Given the description of an element on the screen output the (x, y) to click on. 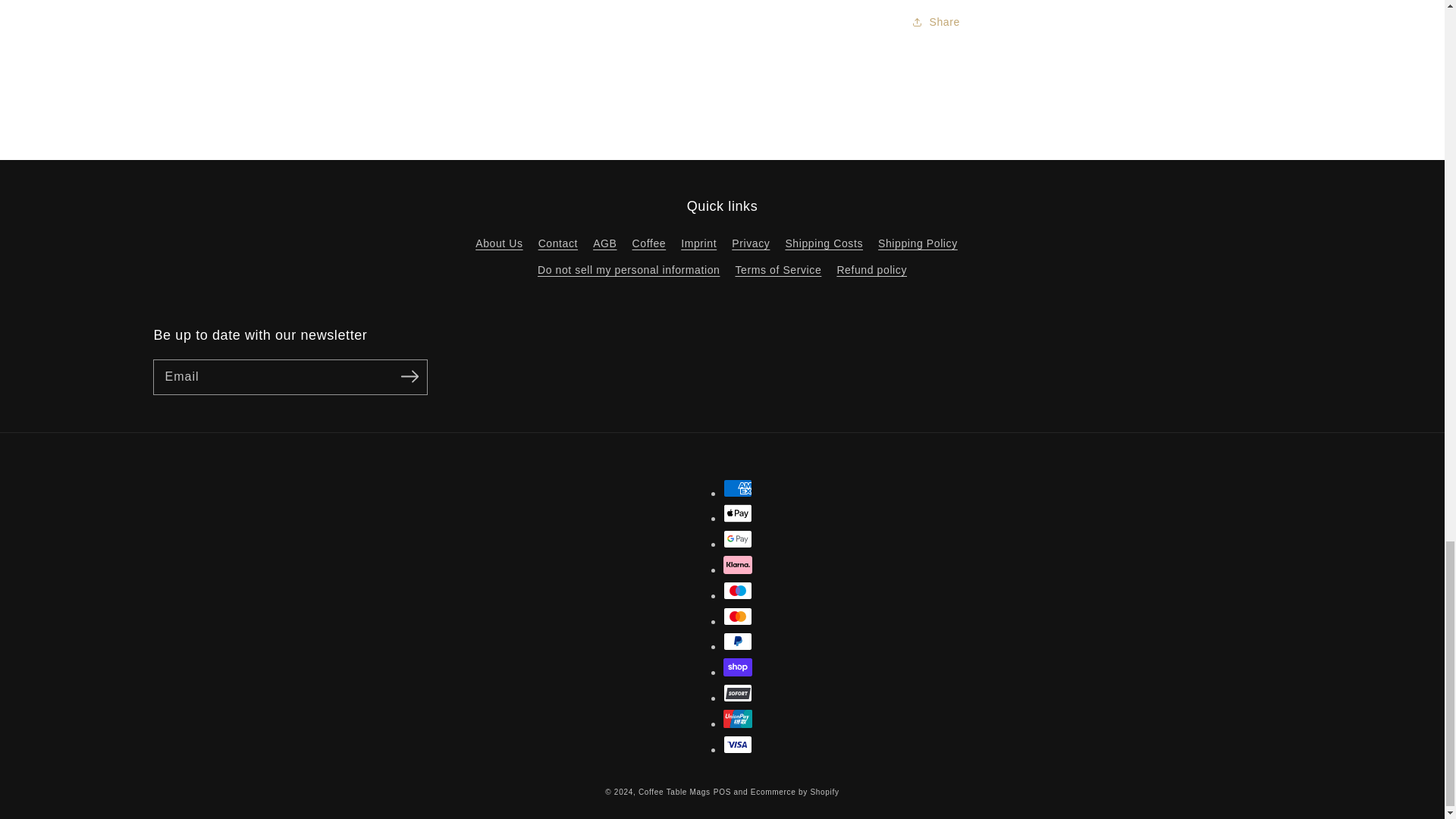
Shop Pay (737, 667)
Klarna (737, 565)
Apple Pay (737, 513)
Google Pay (737, 538)
SOFORT (737, 692)
Maestro (737, 590)
American Express (737, 488)
Mastercard (737, 616)
PayPal (737, 641)
